Given the description of an element on the screen output the (x, y) to click on. 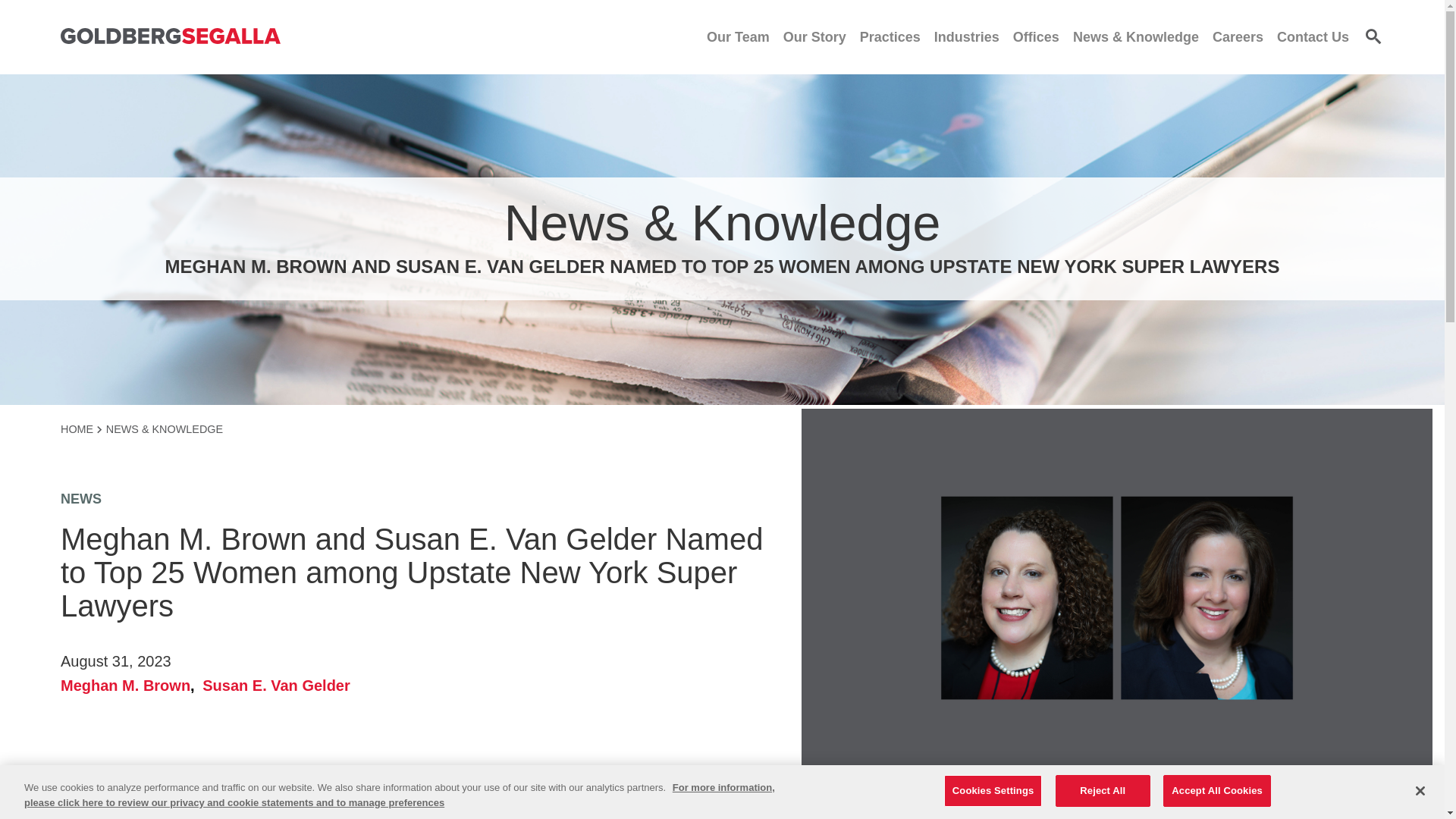
Offices (1036, 37)
Contact Us (1312, 37)
Meghan M. Brown (129, 685)
Careers (1237, 37)
HOME (81, 428)
Our Story (814, 37)
Susan E. Van Gelder (276, 685)
Industries (966, 37)
Practices (890, 37)
Our Team (738, 37)
